Given the description of an element on the screen output the (x, y) to click on. 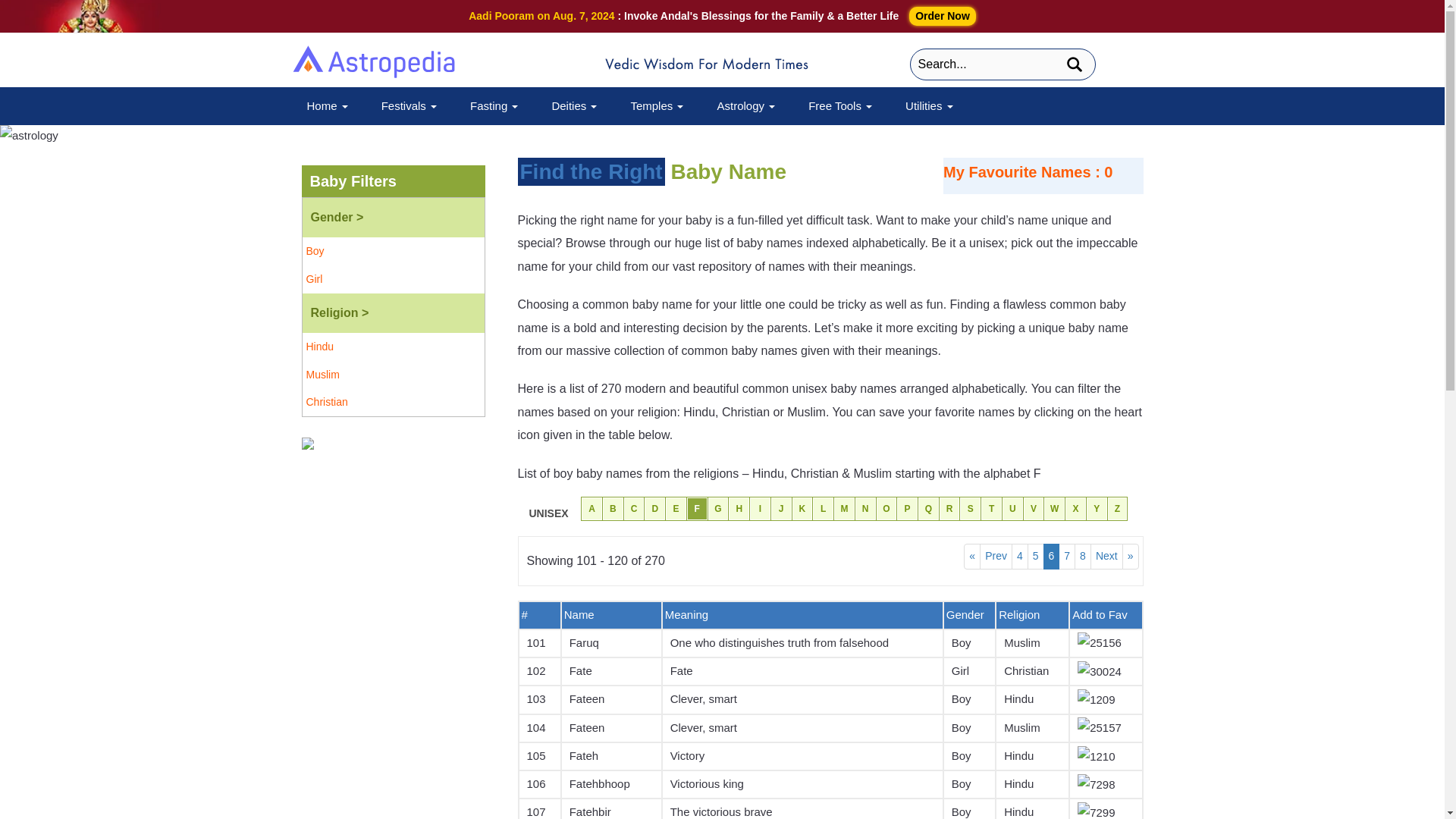
Baby names starting with B (613, 508)
Baby names starting with J (780, 508)
Baby names starting with E (675, 508)
Home (326, 104)
Baby names starting with Q (927, 508)
Baby names starting with M (843, 508)
Temples (657, 104)
Deities (573, 104)
Baby names starting with S (969, 508)
Baby names starting with C (633, 508)
Baby names starting with H (738, 508)
Baby names starting with G (718, 508)
Baby names starting with R (949, 508)
Fasting (494, 104)
Order Now (941, 15)
